Given the description of an element on the screen output the (x, y) to click on. 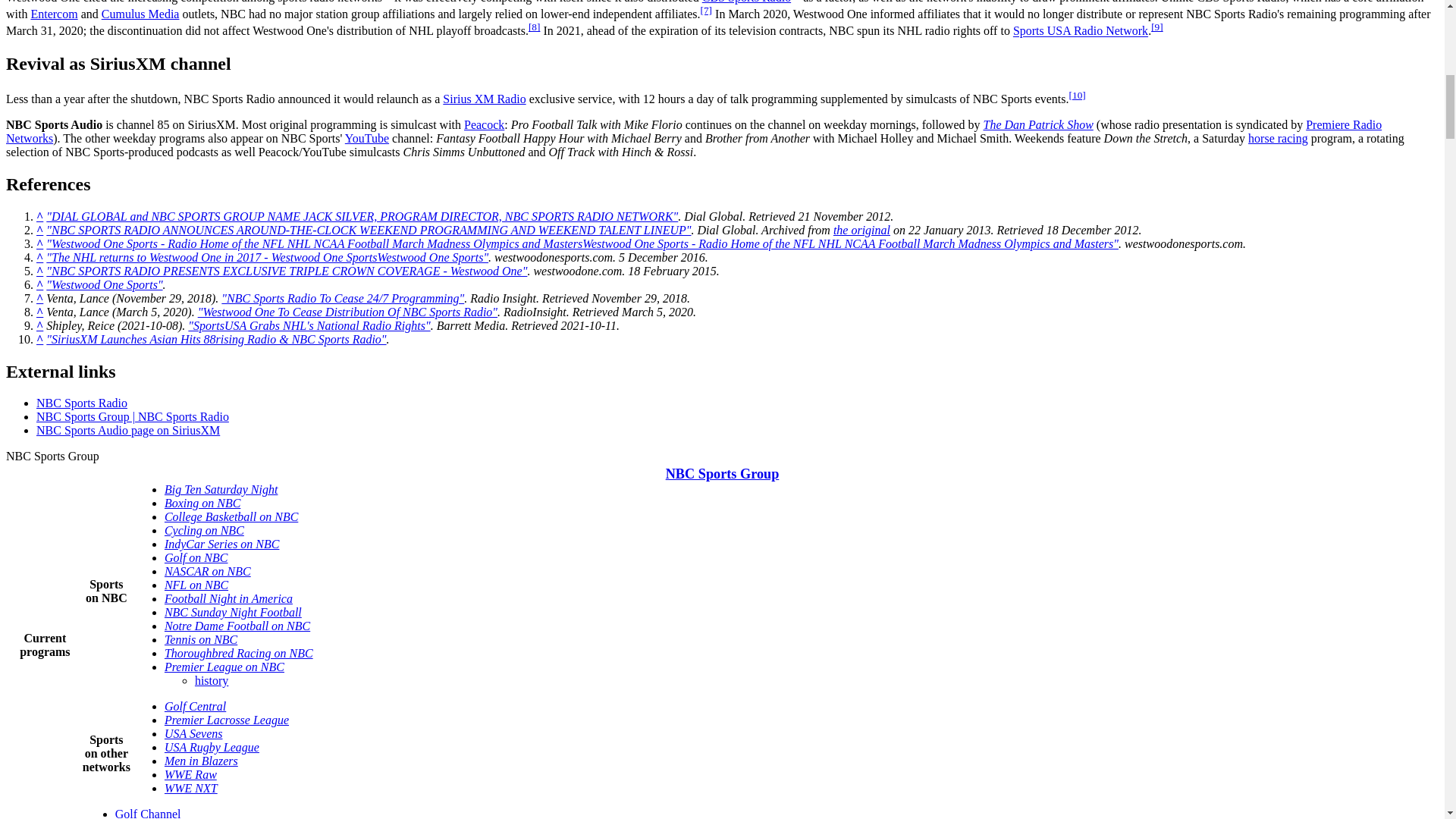
Sports USA Radio Network (1080, 31)
CBS Sports Radio (745, 2)
Cumulus Media (140, 13)
Entercom (53, 13)
